Given the description of an element on the screen output the (x, y) to click on. 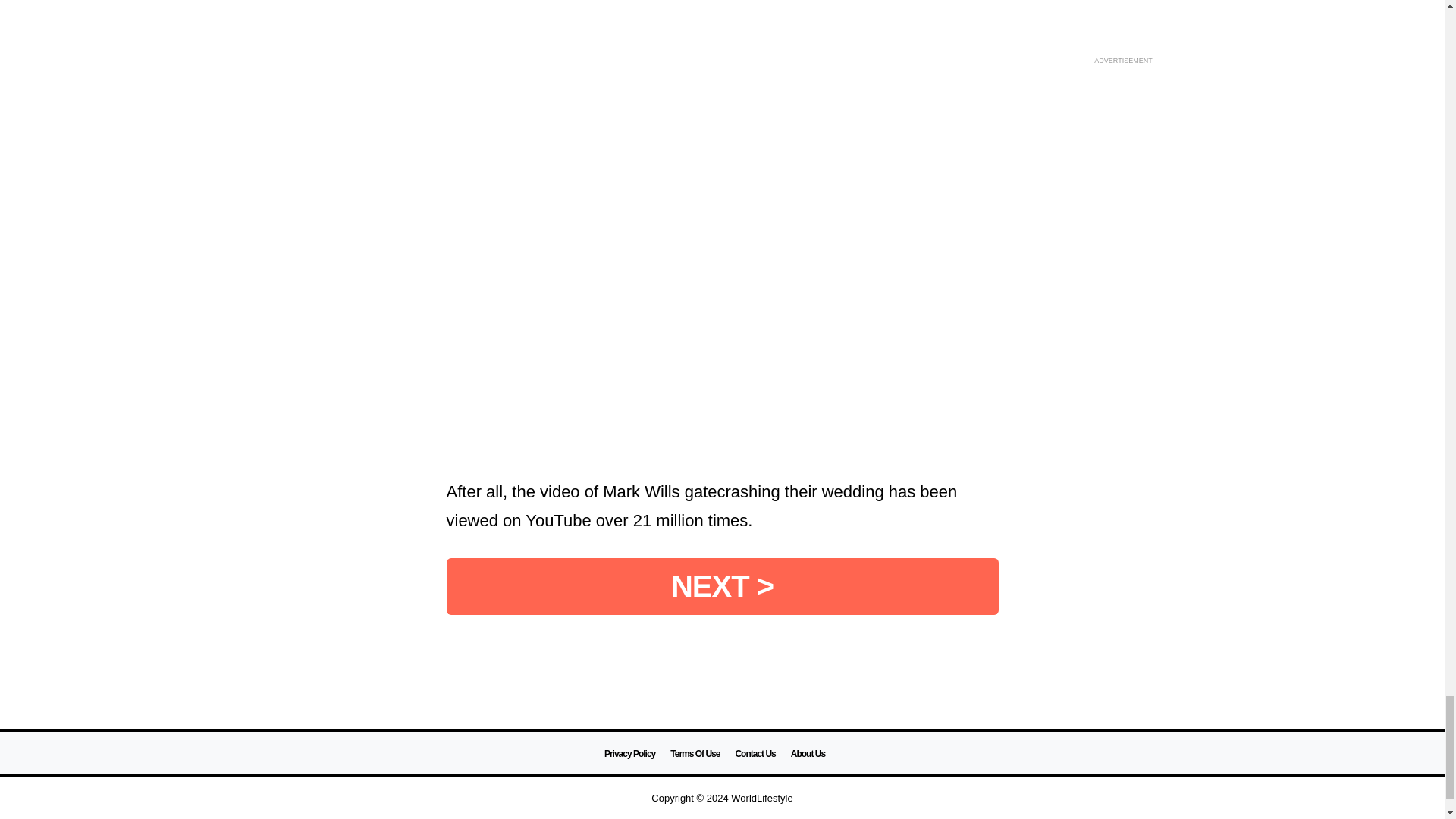
About Us (807, 753)
Privacy Policy (629, 753)
Terms Of Use (694, 753)
Contact Us (754, 753)
